Given the description of an element on the screen output the (x, y) to click on. 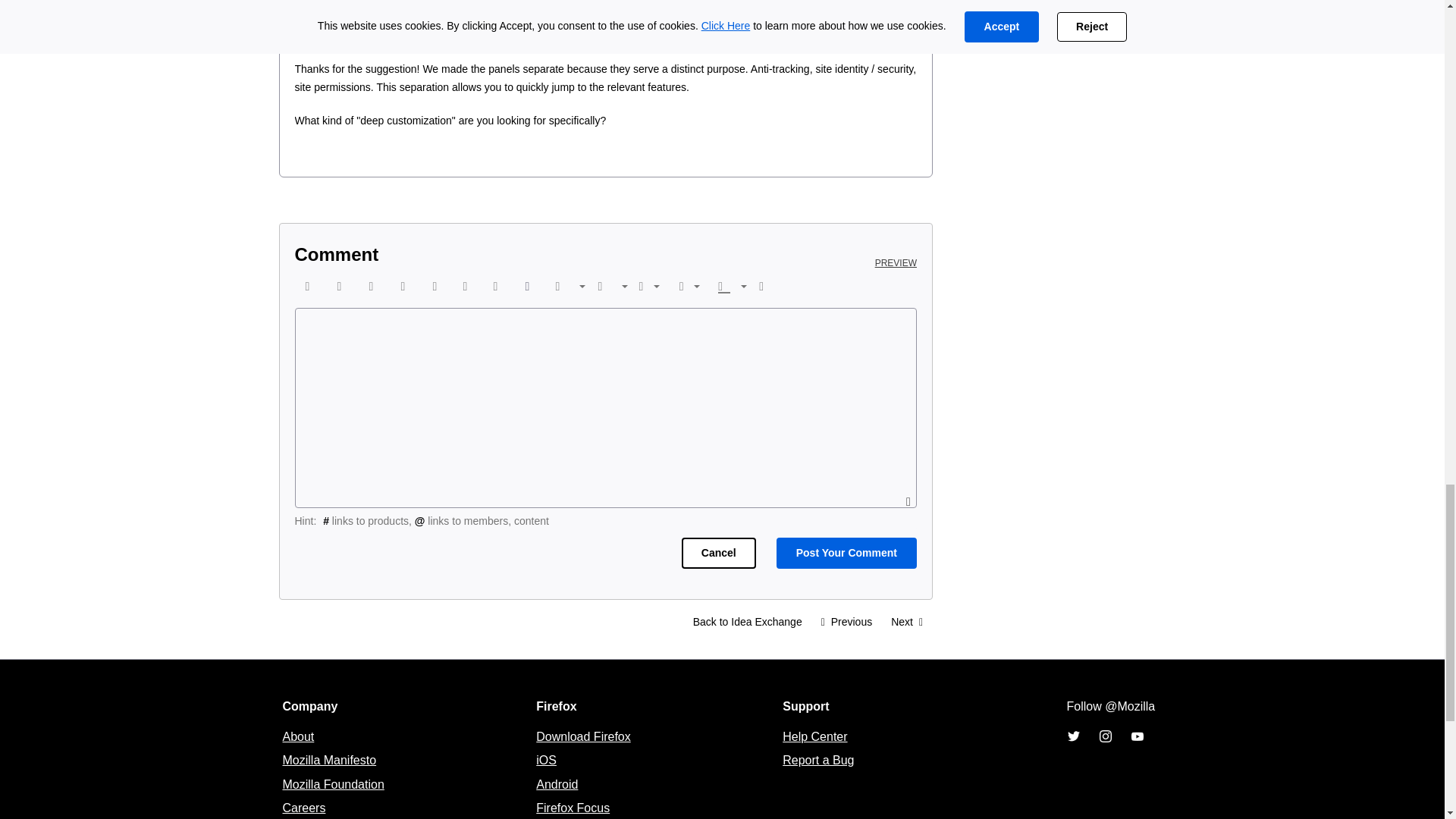
Cancel (718, 552)
Post Your Comment (846, 552)
